Given the description of an element on the screen output the (x, y) to click on. 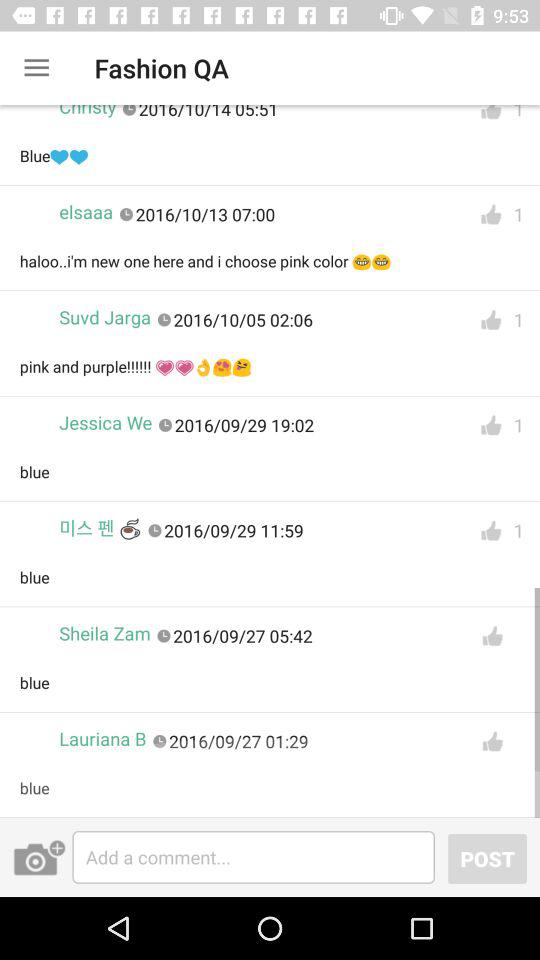
select thumbs up (491, 214)
